Given the description of an element on the screen output the (x, y) to click on. 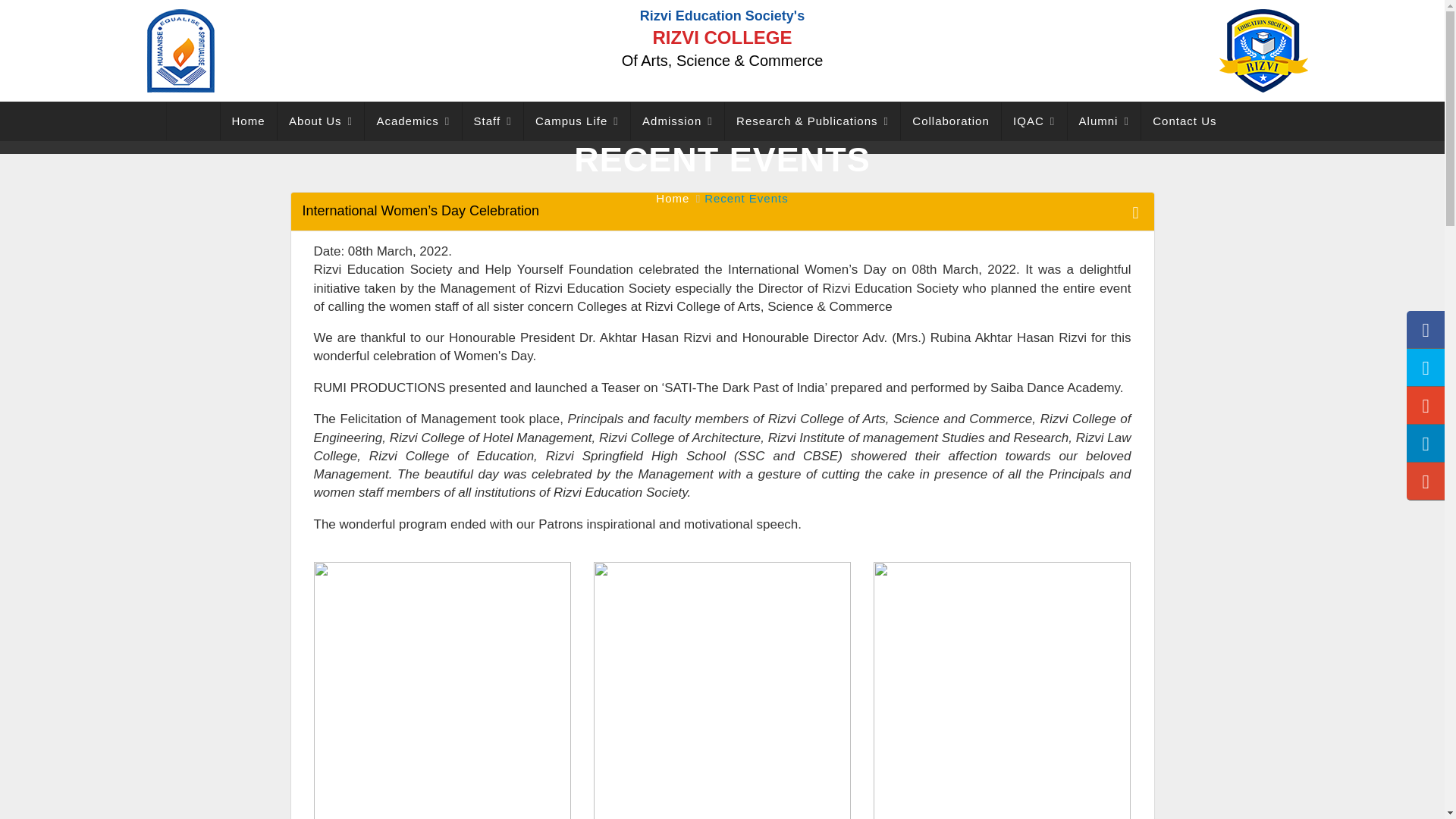
About Us (321, 121)
Campus Life (577, 121)
Home (248, 121)
Staff (492, 121)
Academics (413, 121)
